Given the description of an element on the screen output the (x, y) to click on. 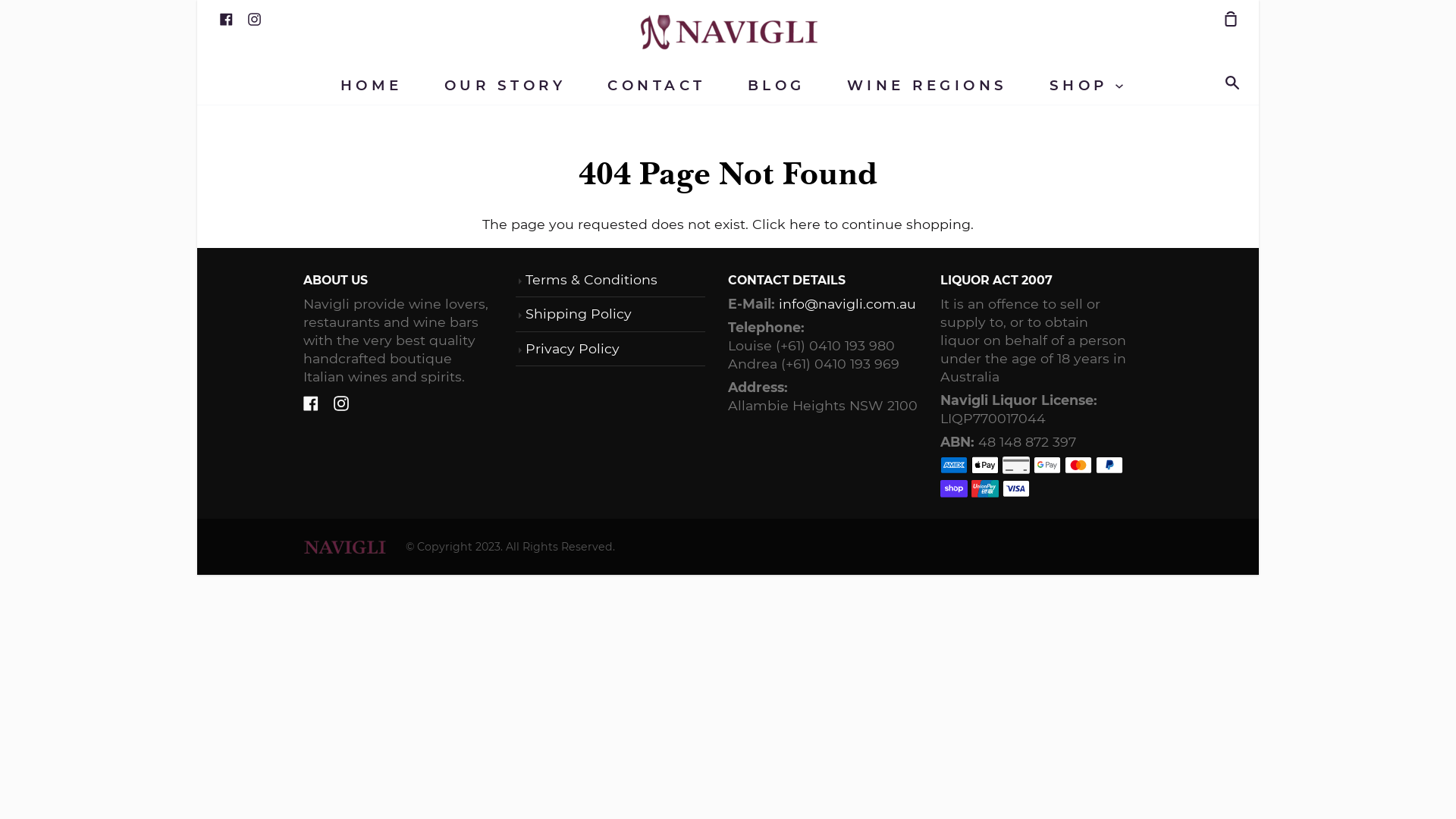
HOME Element type: text (371, 84)
Search Element type: text (1235, 83)
Facebook Element type: text (225, 17)
CONTACT Element type: text (656, 84)
BLOG Element type: text (776, 84)
Terms & Conditions Element type: text (591, 279)
Instagram Element type: text (340, 401)
Shopping Cart Element type: text (1224, 18)
OUR STORY Element type: text (505, 84)
here Element type: text (804, 223)
Privacy Policy Element type: text (572, 348)
SHOP Element type: text (1086, 84)
WINE REGIONS Element type: text (927, 84)
Shipping Policy Element type: text (578, 313)
Facebook Element type: text (310, 401)
info@navigli.com.au Element type: text (847, 303)
Instagram Element type: text (253, 17)
